Given the description of an element on the screen output the (x, y) to click on. 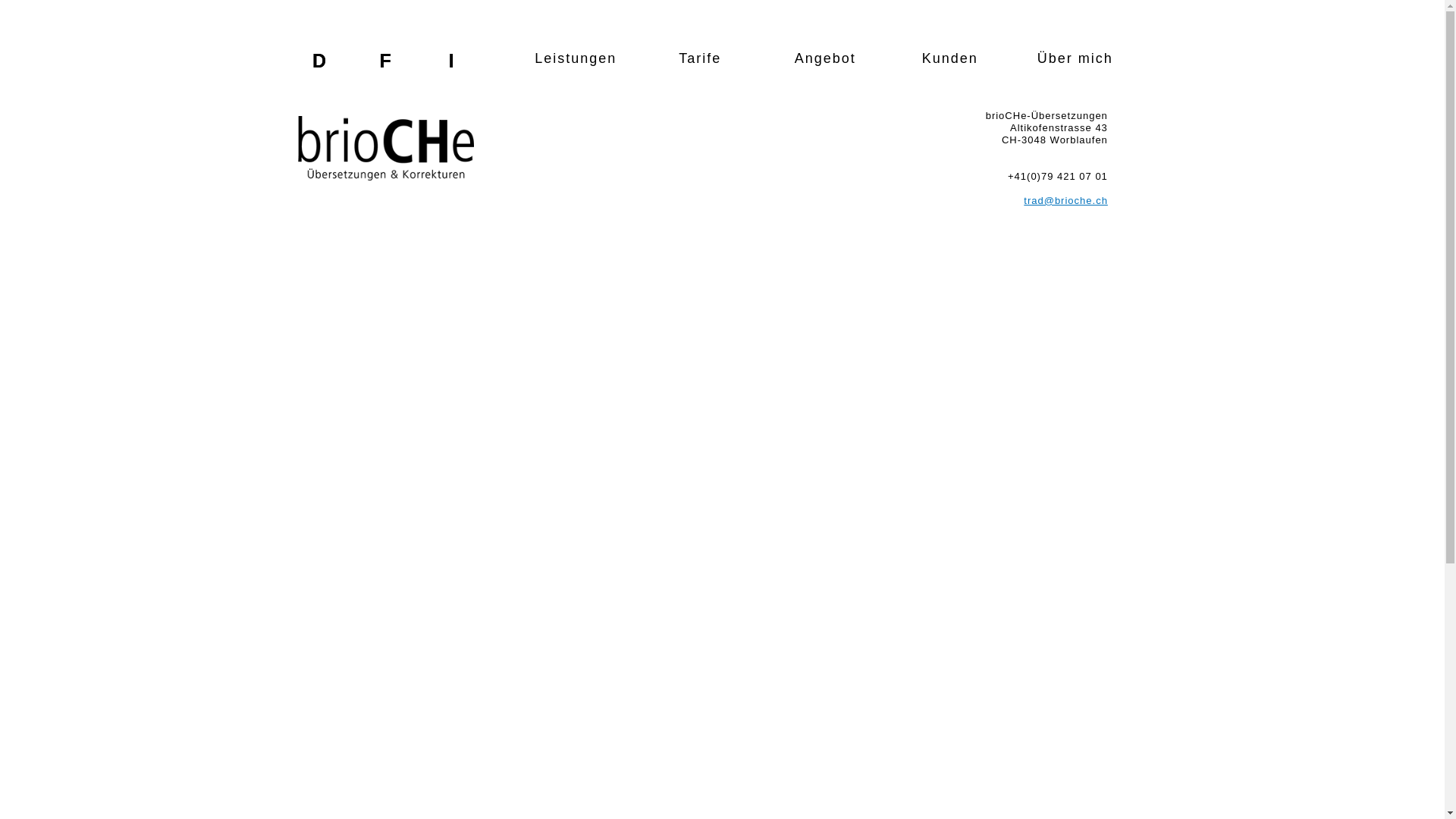
Angebot Element type: text (825, 58)
trad@brioche.ch Element type: text (1065, 199)
Tarife Element type: text (700, 58)
Leistungen Element type: text (575, 58)
D Element type: text (319, 63)
I Element type: text (451, 63)
F Element type: text (385, 63)
Kunden Element type: text (950, 58)
